Given the description of an element on the screen output the (x, y) to click on. 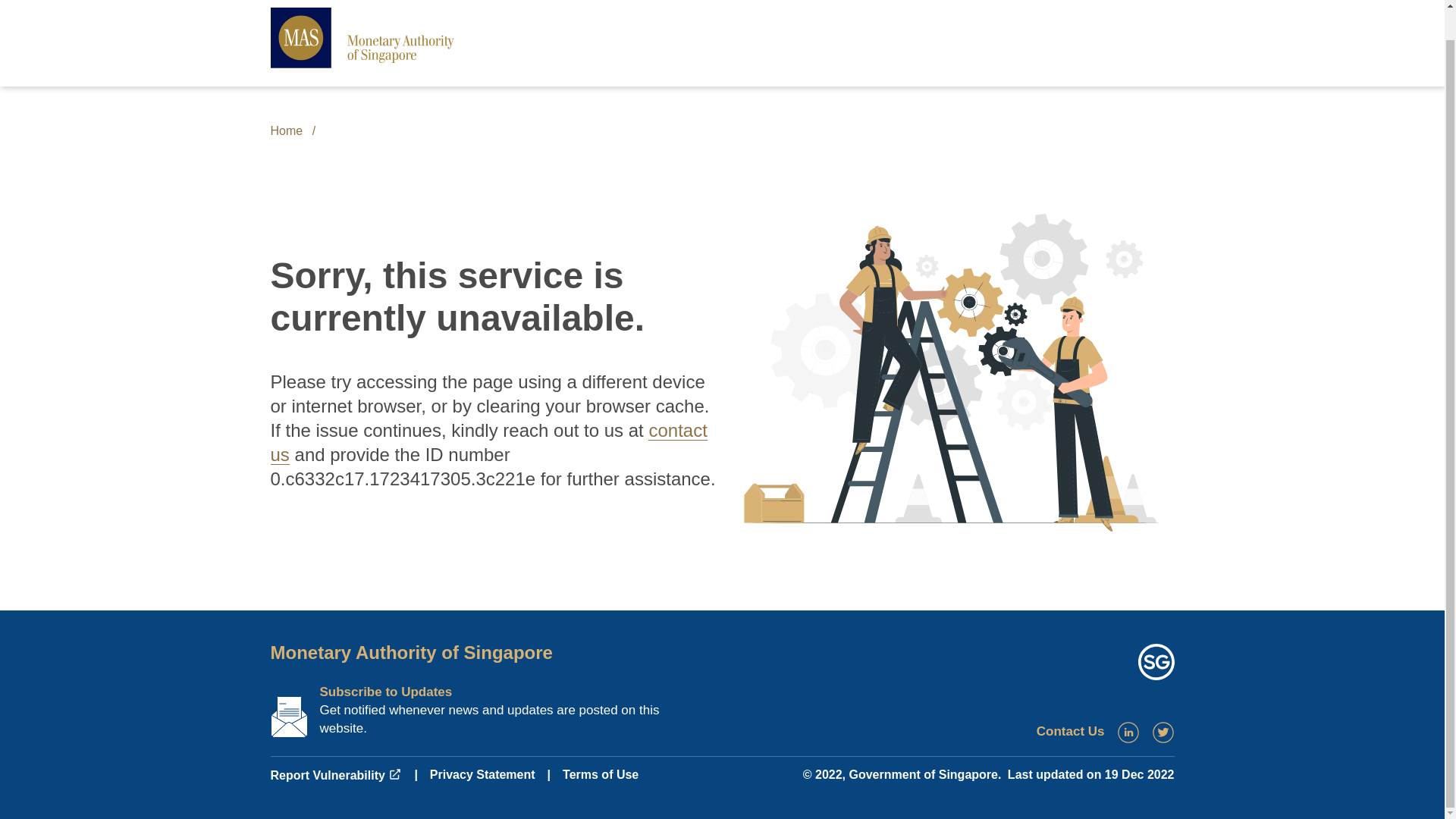
Contact Us (1070, 730)
contact us (487, 442)
Report Vulnerability (335, 775)
Home (285, 130)
Monetary Authority of Singapore (410, 652)
Privacy Statement (482, 774)
Terms of Use (600, 774)
